Given the description of an element on the screen output the (x, y) to click on. 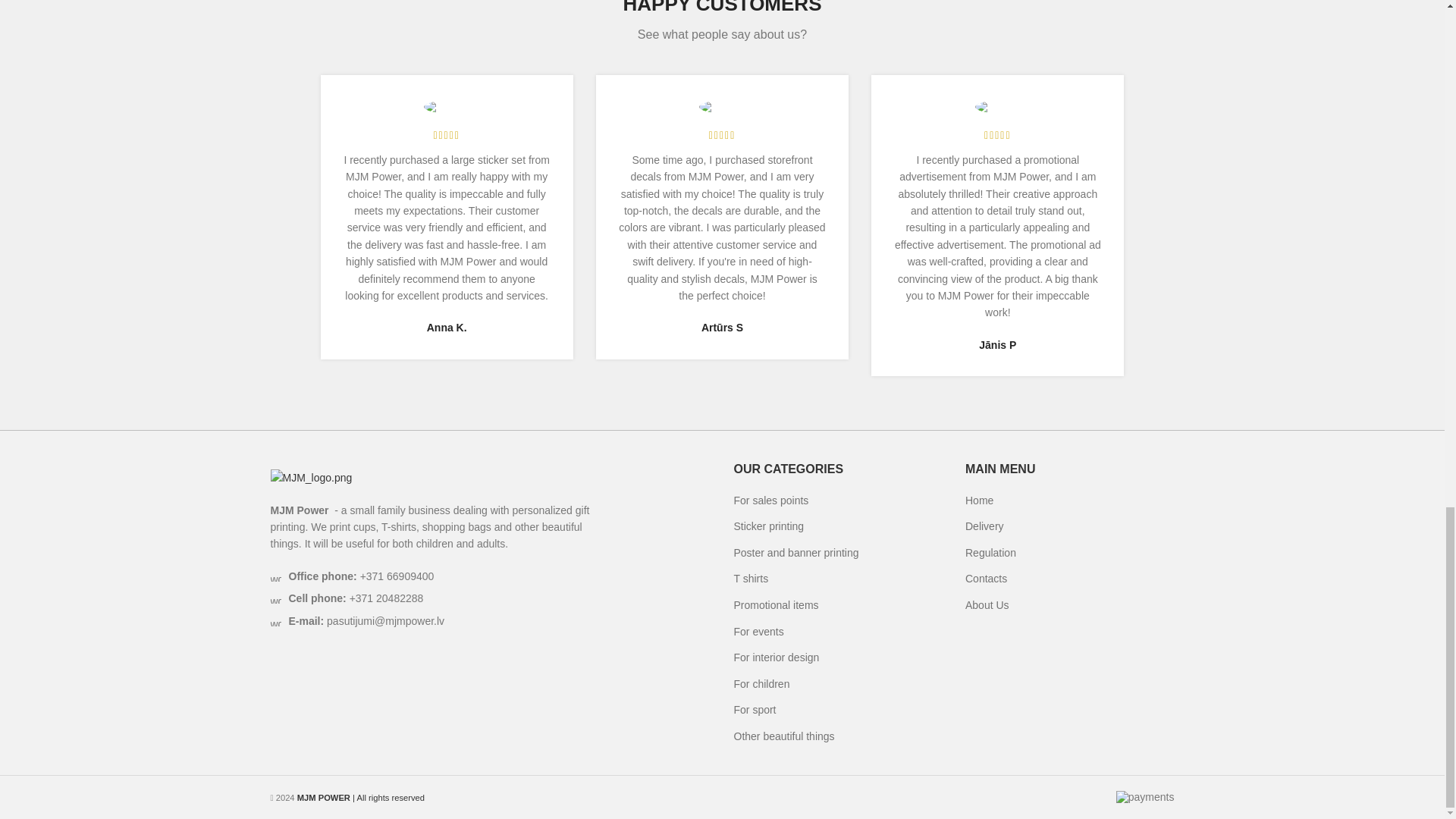
wd-envelope-dark (275, 620)
wd-phone-dark (275, 597)
wd-phone-dark (275, 575)
